Given the description of an element on the screen output the (x, y) to click on. 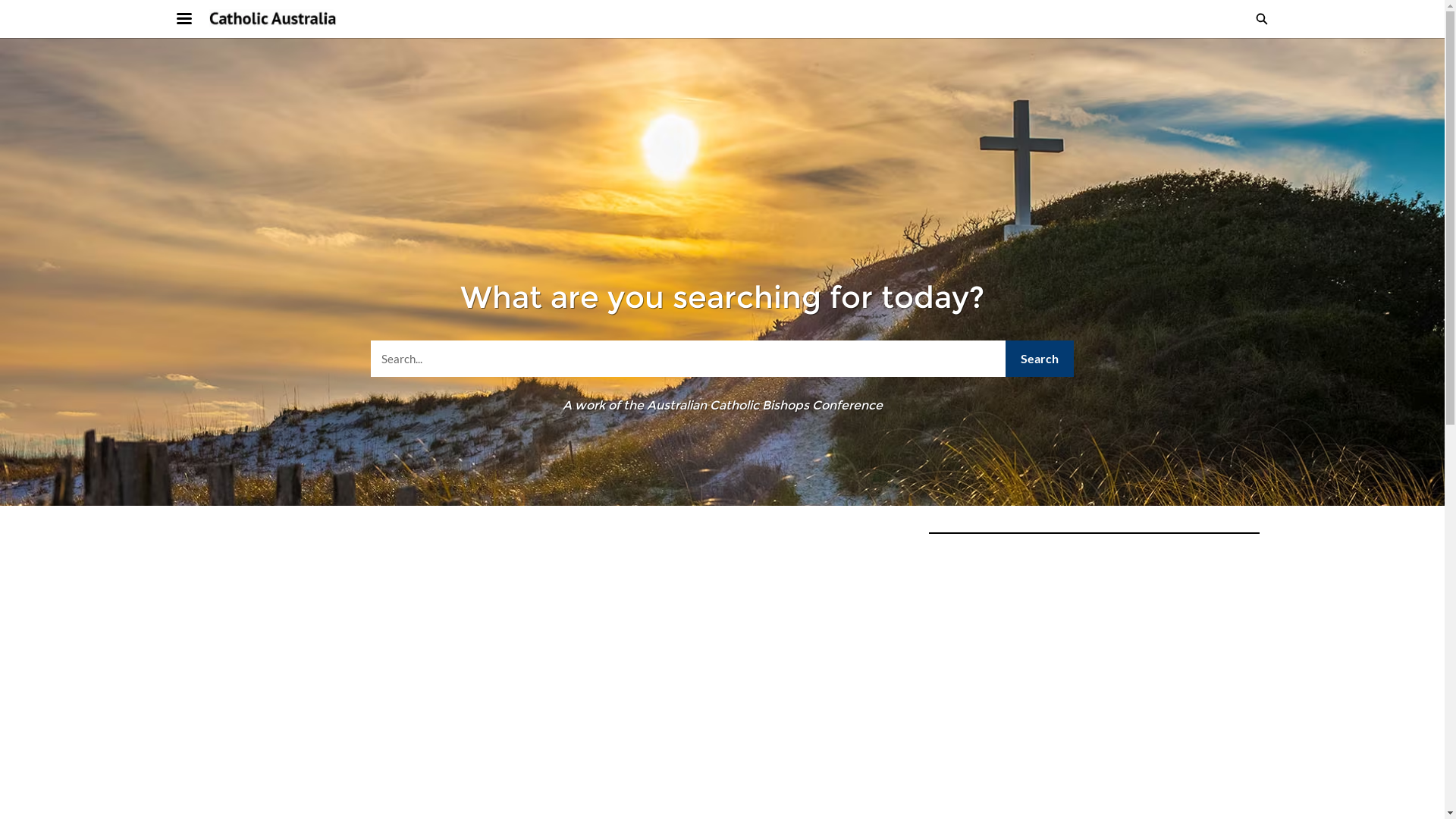
Search Element type: text (1039, 358)
Skip to Main Content Element type: text (9, 4)
Navigation menu Element type: text (192, 18)
Expand search Element type: text (1260, 18)
Catholic Australia Element type: text (273, 19)
